Given the description of an element on the screen output the (x, y) to click on. 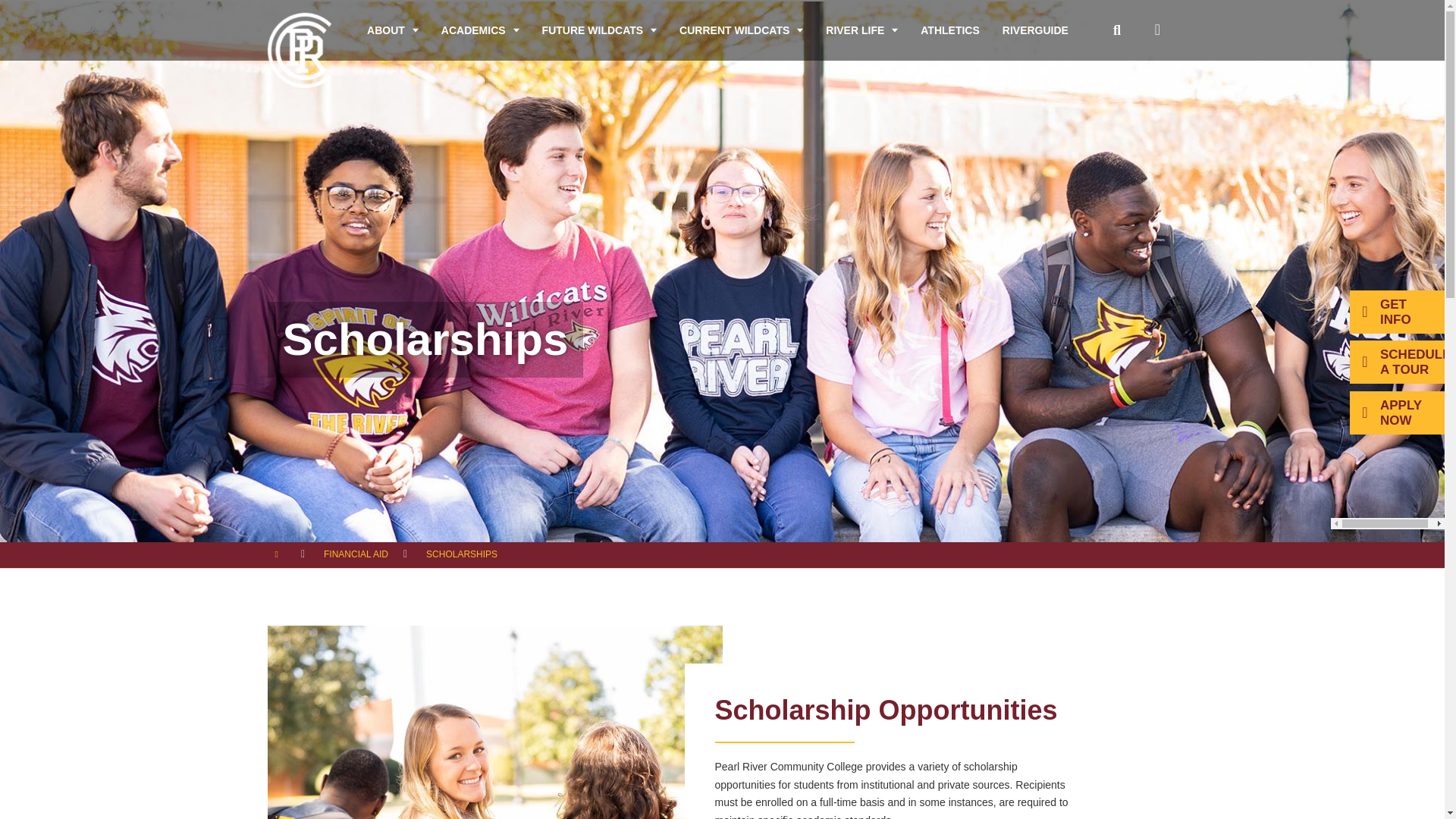
ABOUT (392, 30)
ACADEMICS (480, 30)
FUTURE WILDCATS (599, 30)
